Given the description of an element on the screen output the (x, y) to click on. 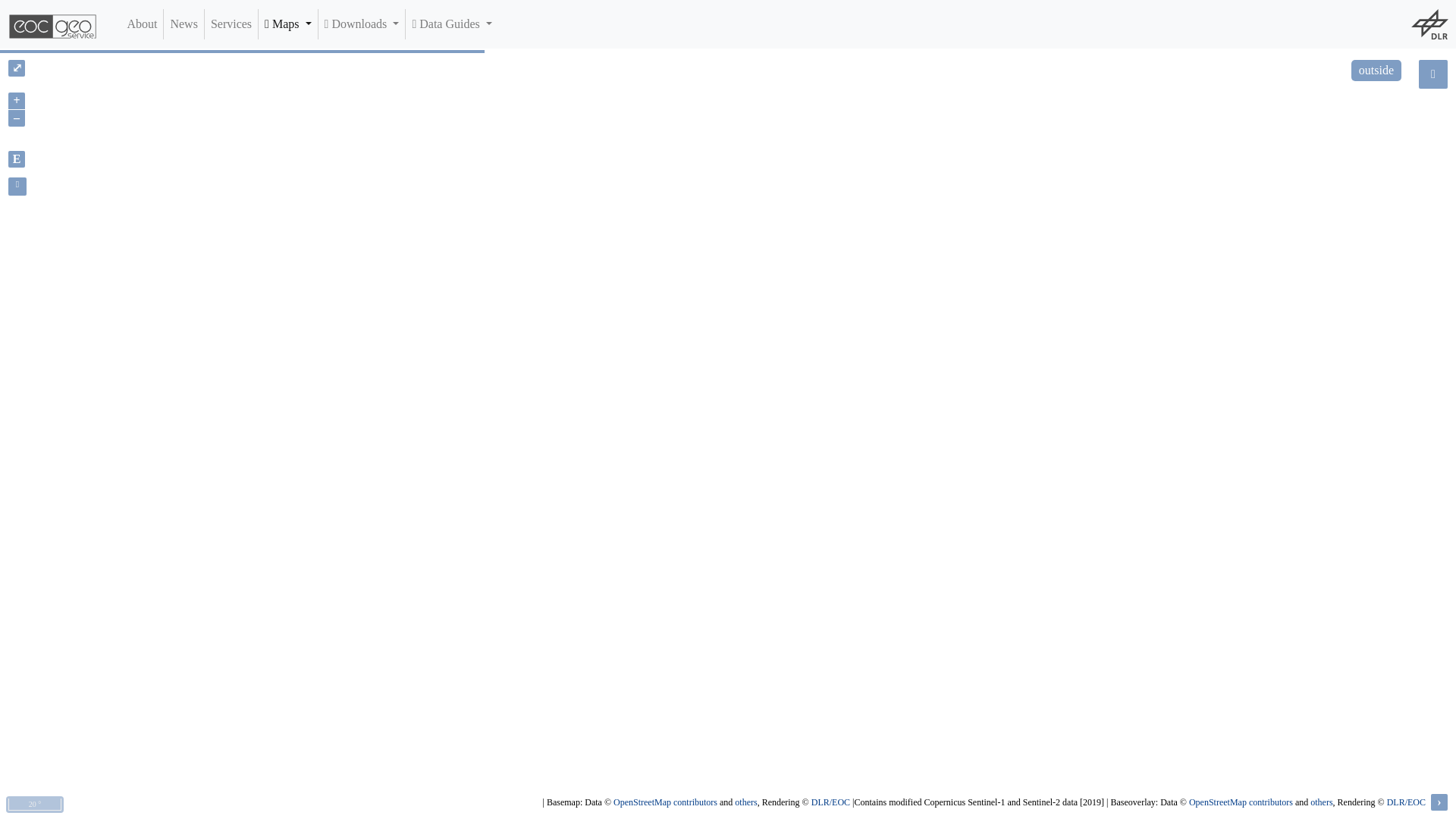
Toggle full-screen (16, 67)
Zoom out (16, 117)
Zoom in (16, 100)
About (141, 24)
Maps (288, 24)
Show info about map (17, 186)
Layers (1432, 73)
Fit to extent (16, 158)
Services (231, 24)
Attributions (1439, 801)
News (183, 24)
